Given the description of an element on the screen output the (x, y) to click on. 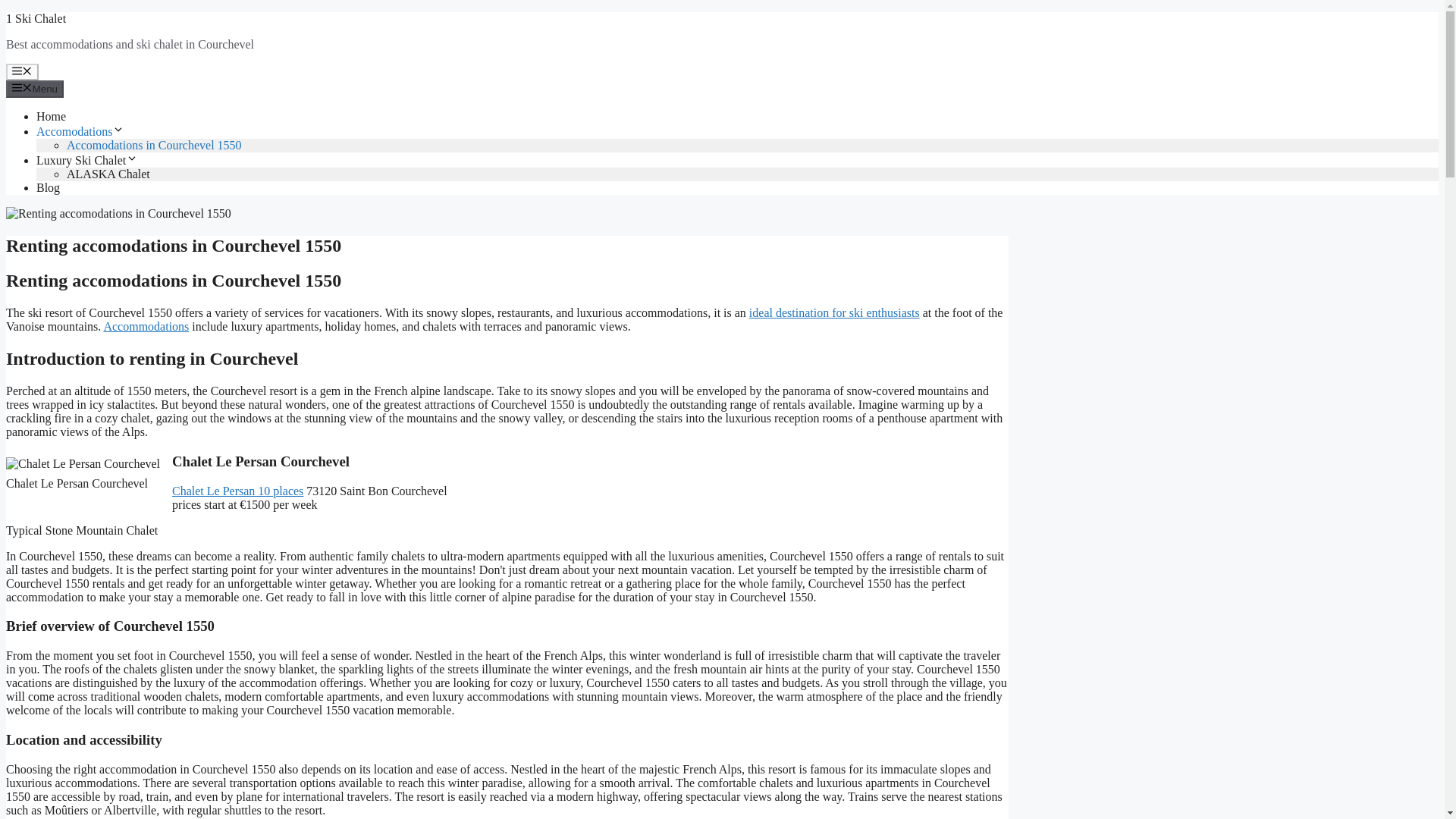
Home (50, 115)
Luxury Ski Chalet (87, 160)
Accommodations (146, 326)
Blog (47, 187)
Menu (22, 71)
Accomodations (79, 131)
Menu (34, 88)
ALASKA Chalet (107, 173)
ideal destination for ski enthusiasts (834, 312)
Accomodations in Courchevel 1550 (153, 144)
1 Ski Chalet (35, 18)
Chalet Le Persan 10 places (236, 490)
